Given the description of an element on the screen output the (x, y) to click on. 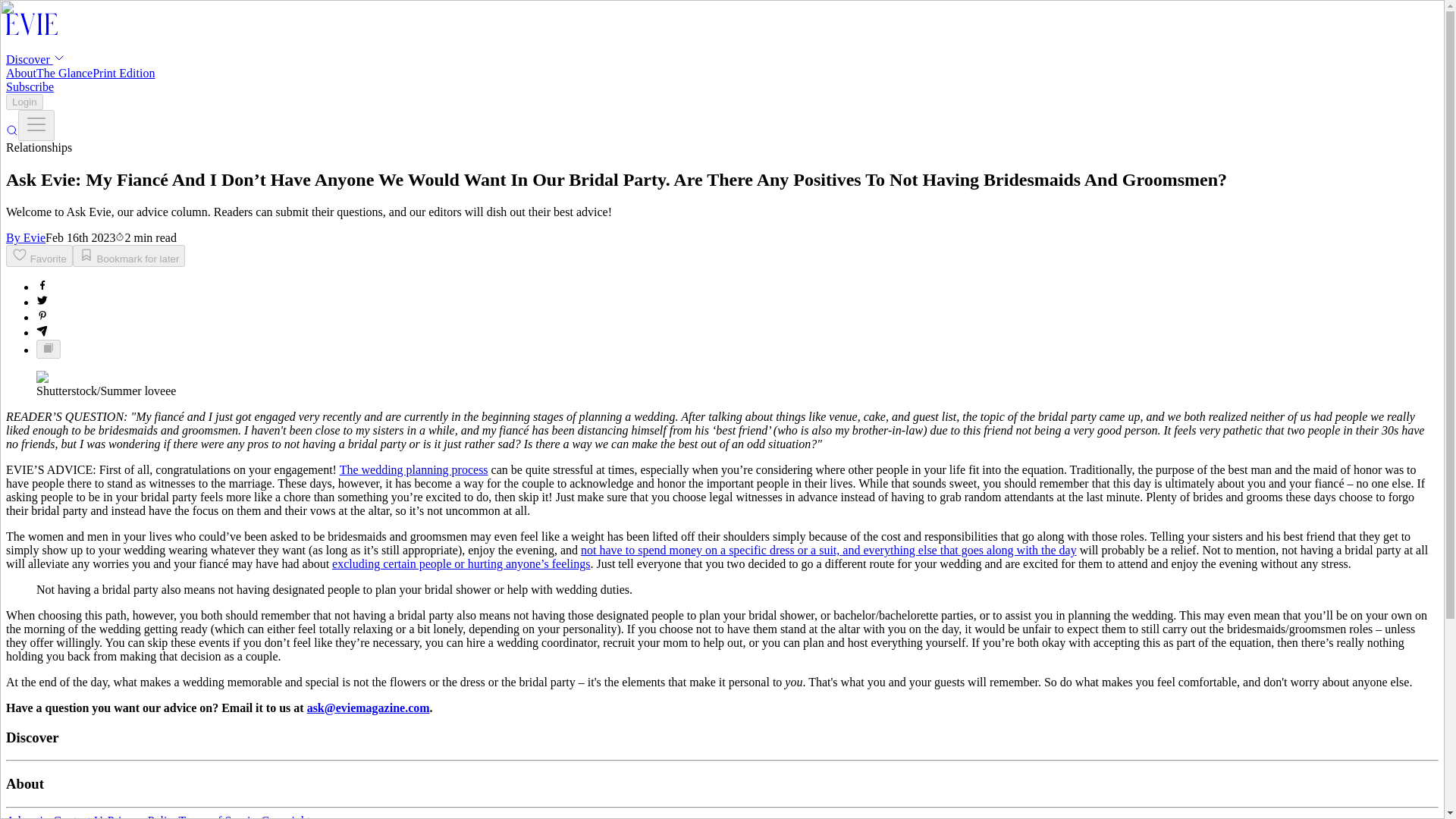
Privacy Policy (143, 816)
Print Edition (123, 72)
Copyright (286, 816)
Login (24, 101)
About (20, 72)
Favorite (38, 255)
Terms of Service (220, 816)
Contact Us (79, 816)
Evie Magazine (31, 31)
The Glance (64, 72)
By Evie (25, 237)
Advertise (28, 816)
Bookmark for later (129, 255)
The wedding planning process (413, 469)
